Given the description of an element on the screen output the (x, y) to click on. 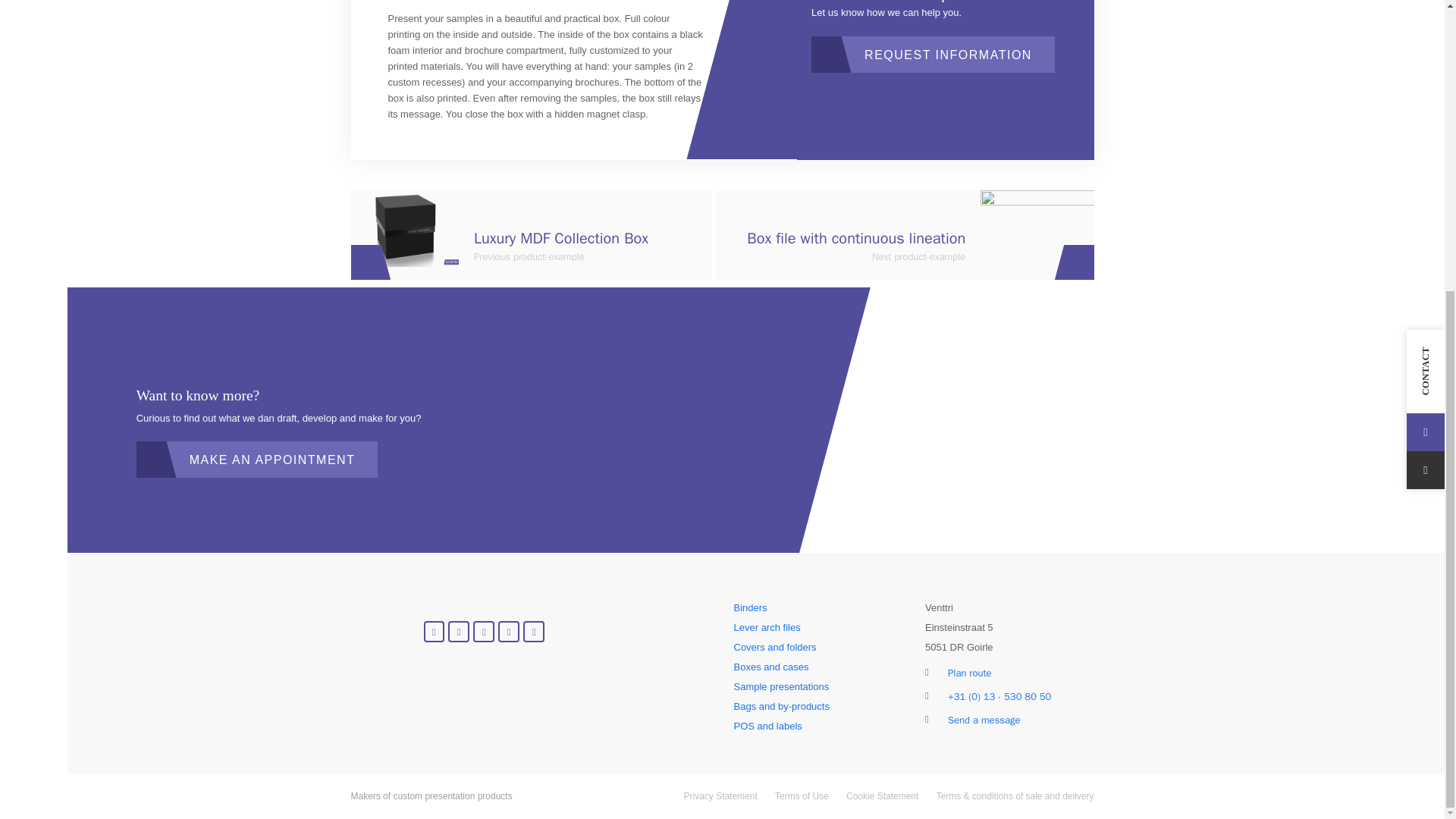
Pinterest (533, 631)
Youtube (484, 631)
Twitter (458, 631)
Instagram (508, 631)
LinkedIn (433, 631)
